Given the description of an element on the screen output the (x, y) to click on. 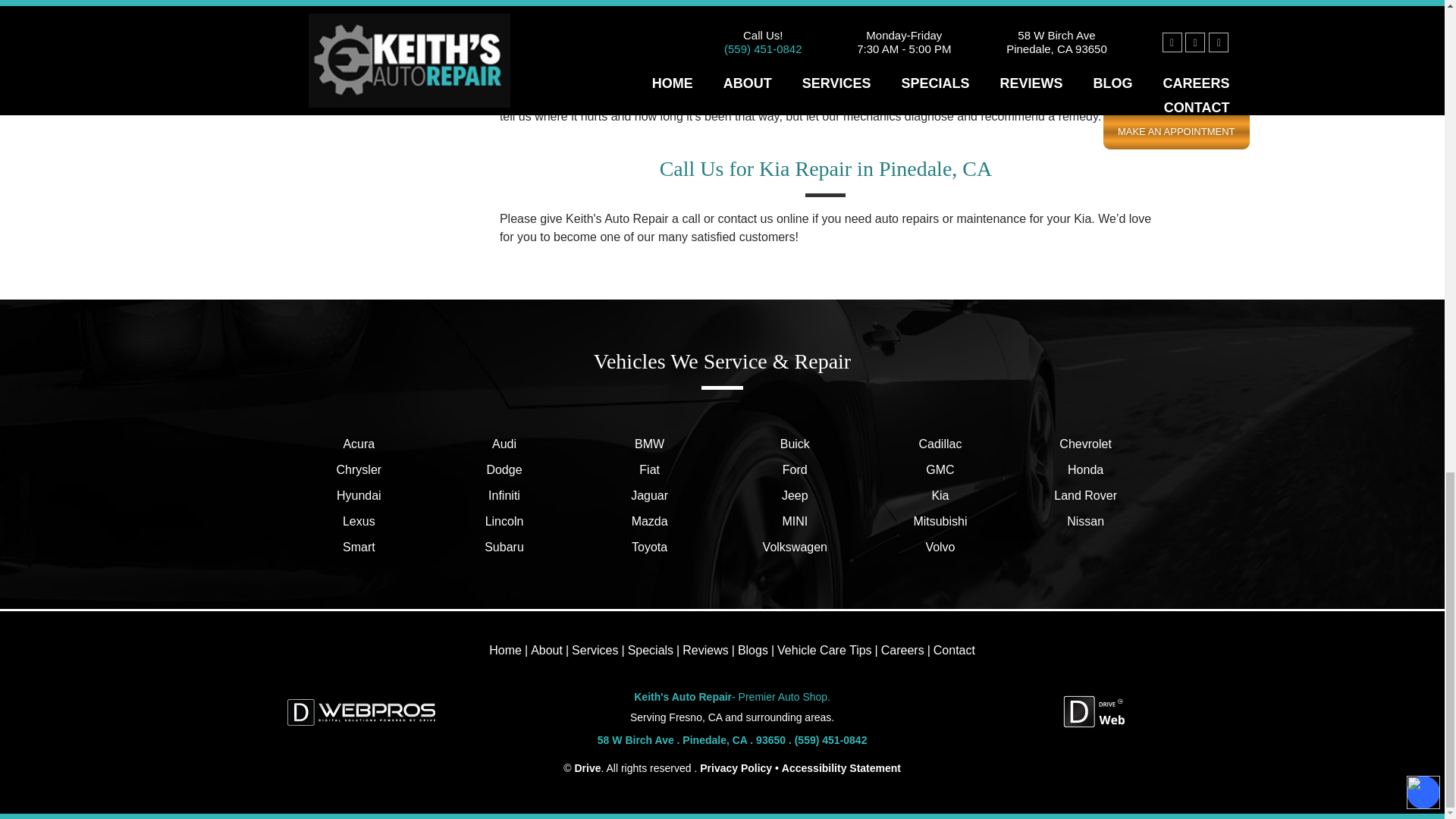
Acura (359, 443)
Audi (503, 443)
